Given the description of an element on the screen output the (x, y) to click on. 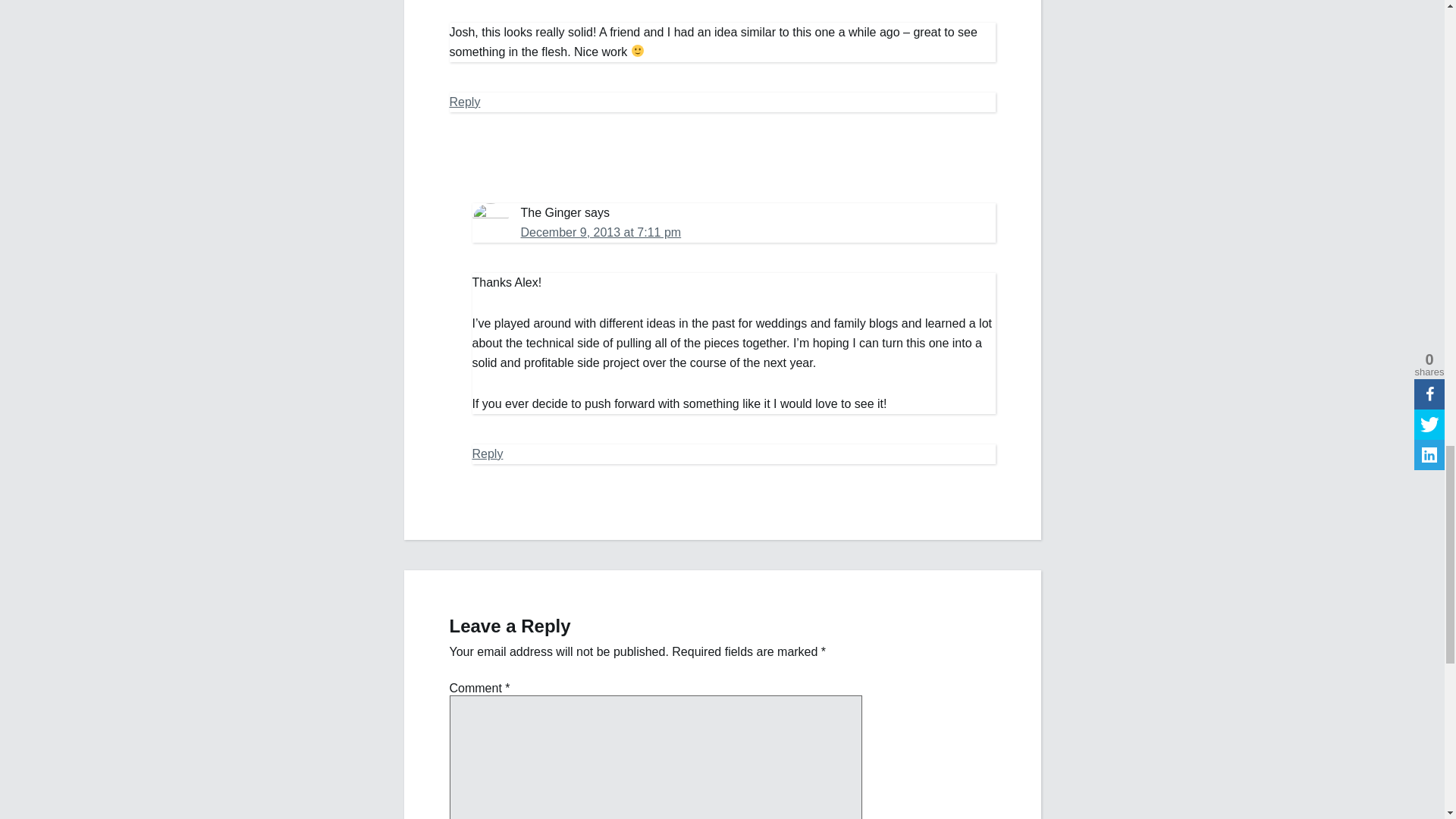
December 9, 2013 at 7:11 pm (600, 232)
Reply (486, 453)
Reply (464, 101)
